Given the description of an element on the screen output the (x, y) to click on. 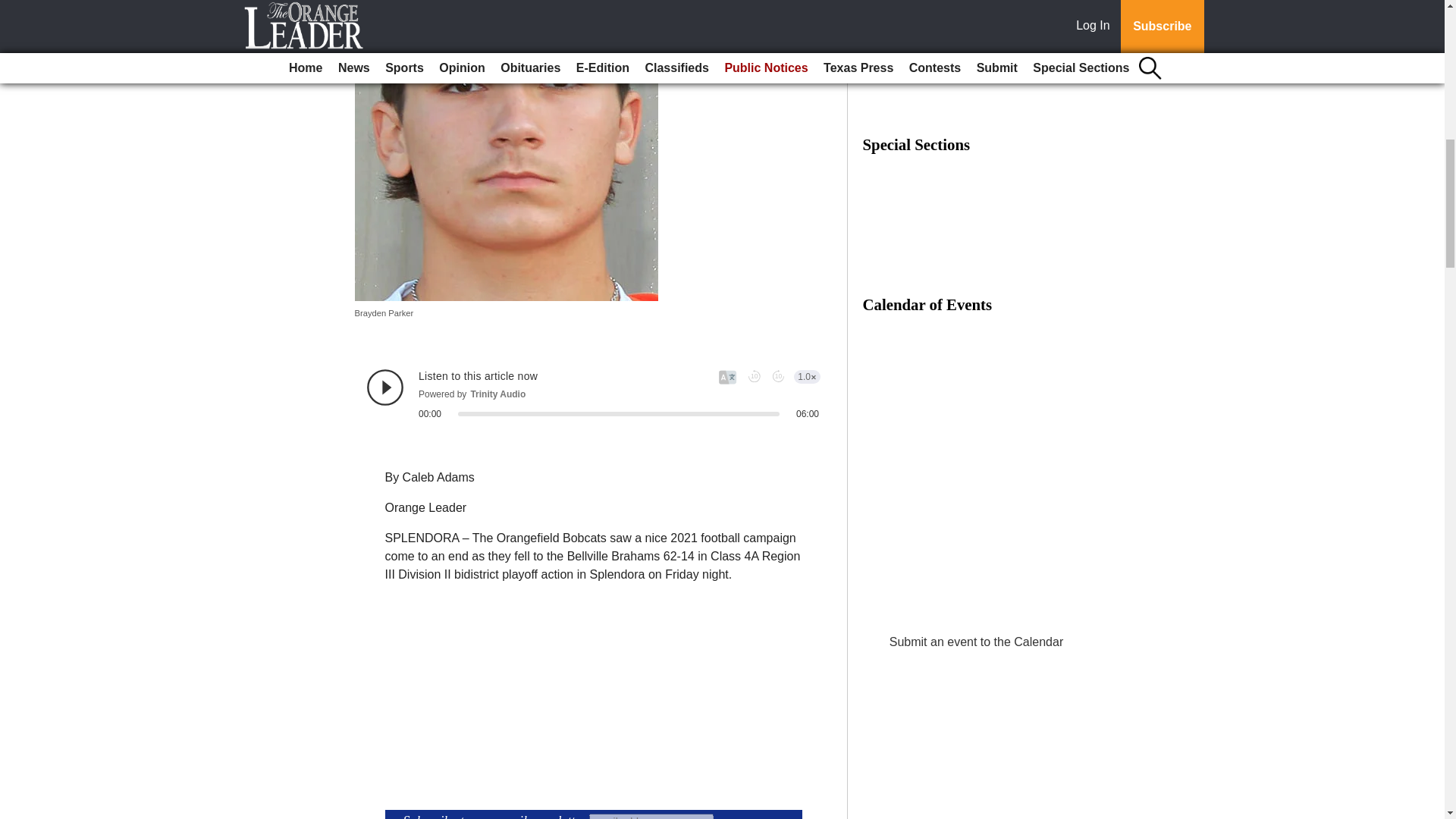
Trinity Audio Player (592, 393)
Submit an event to the Calendar (975, 641)
